Given the description of an element on the screen output the (x, y) to click on. 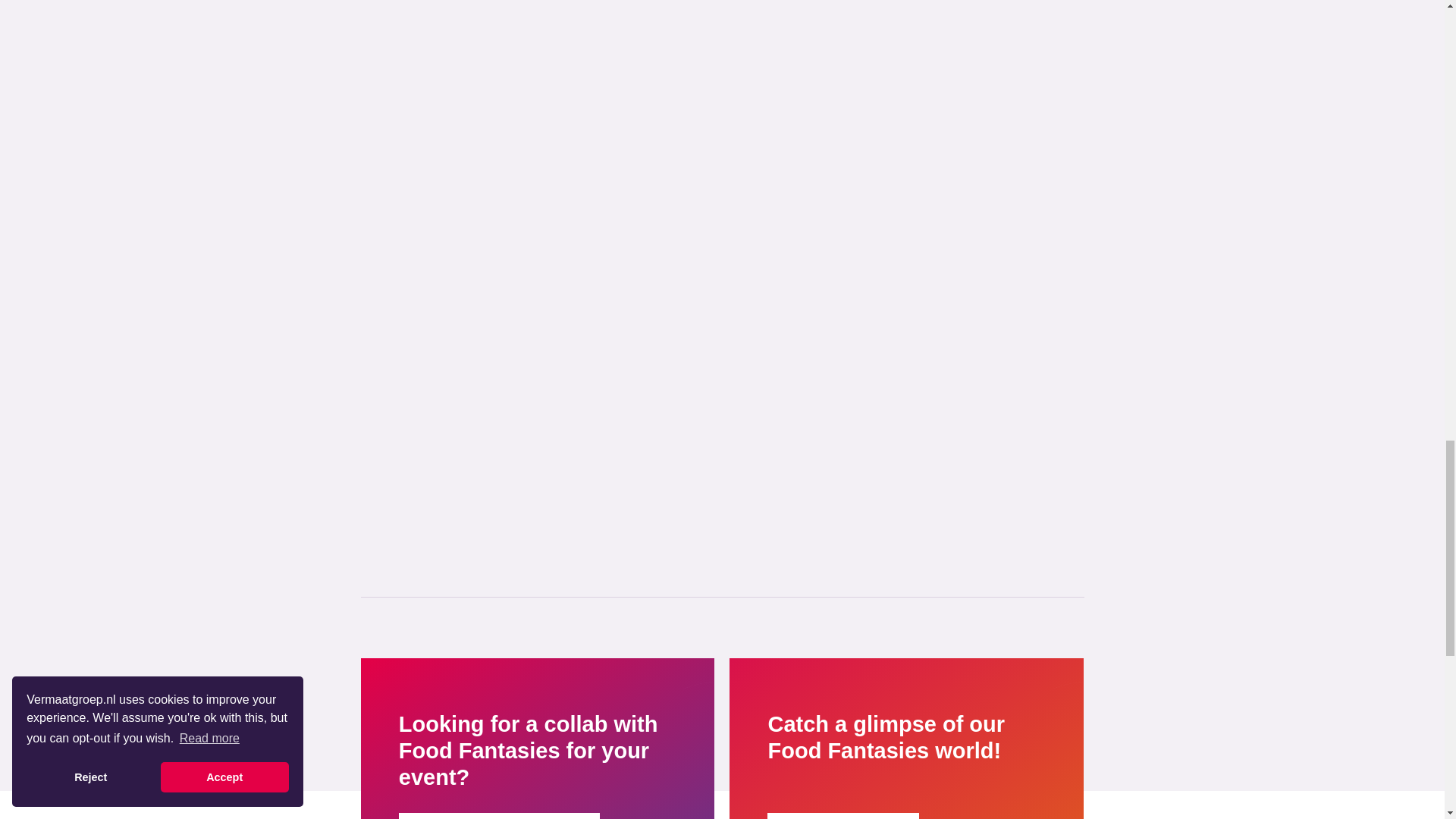
Visit our website. (842, 816)
Let Frederique help you. (498, 816)
